Given the description of an element on the screen output the (x, y) to click on. 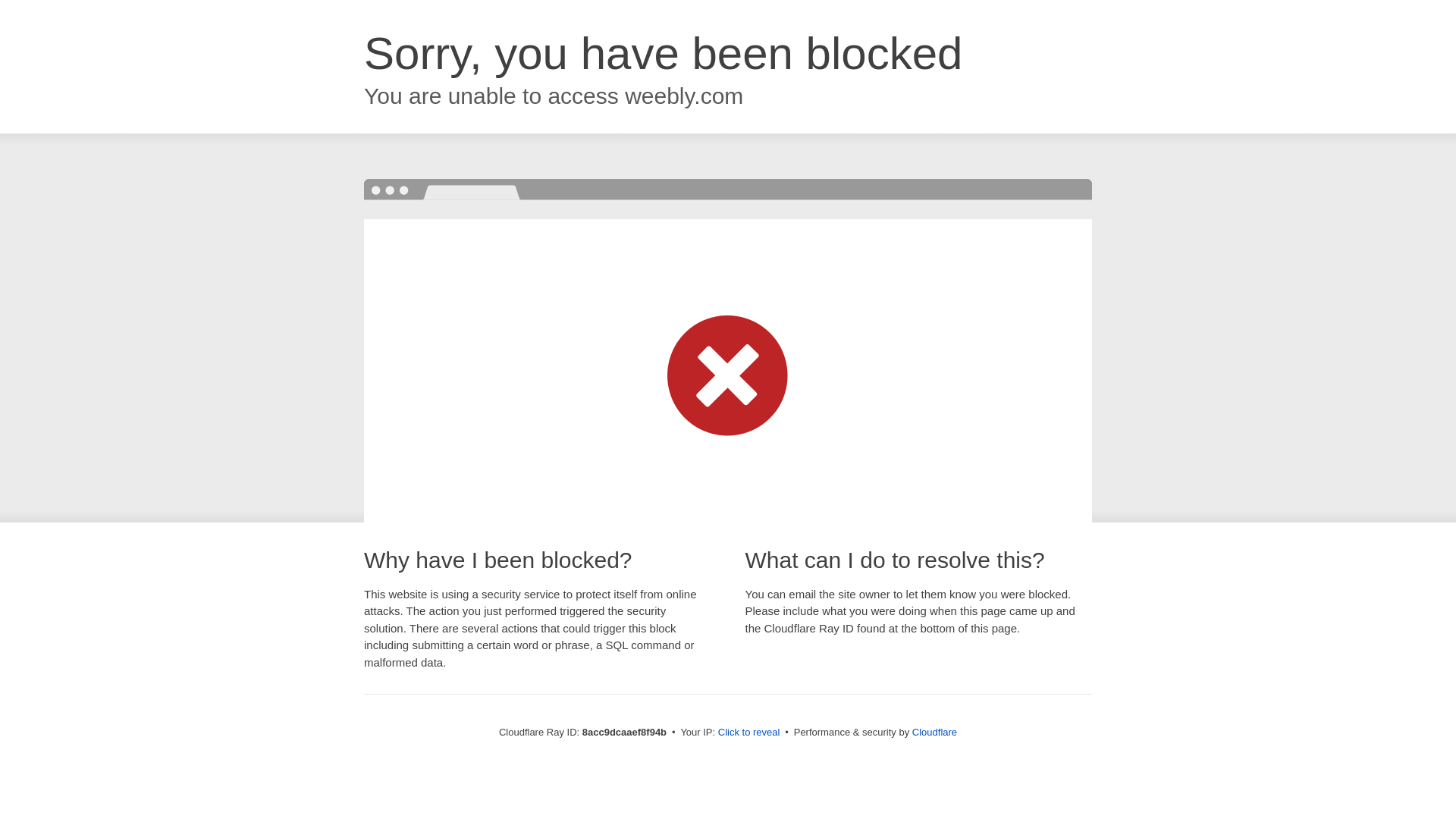
Cloudflare (934, 731)
Click to reveal (748, 732)
